Given the description of an element on the screen output the (x, y) to click on. 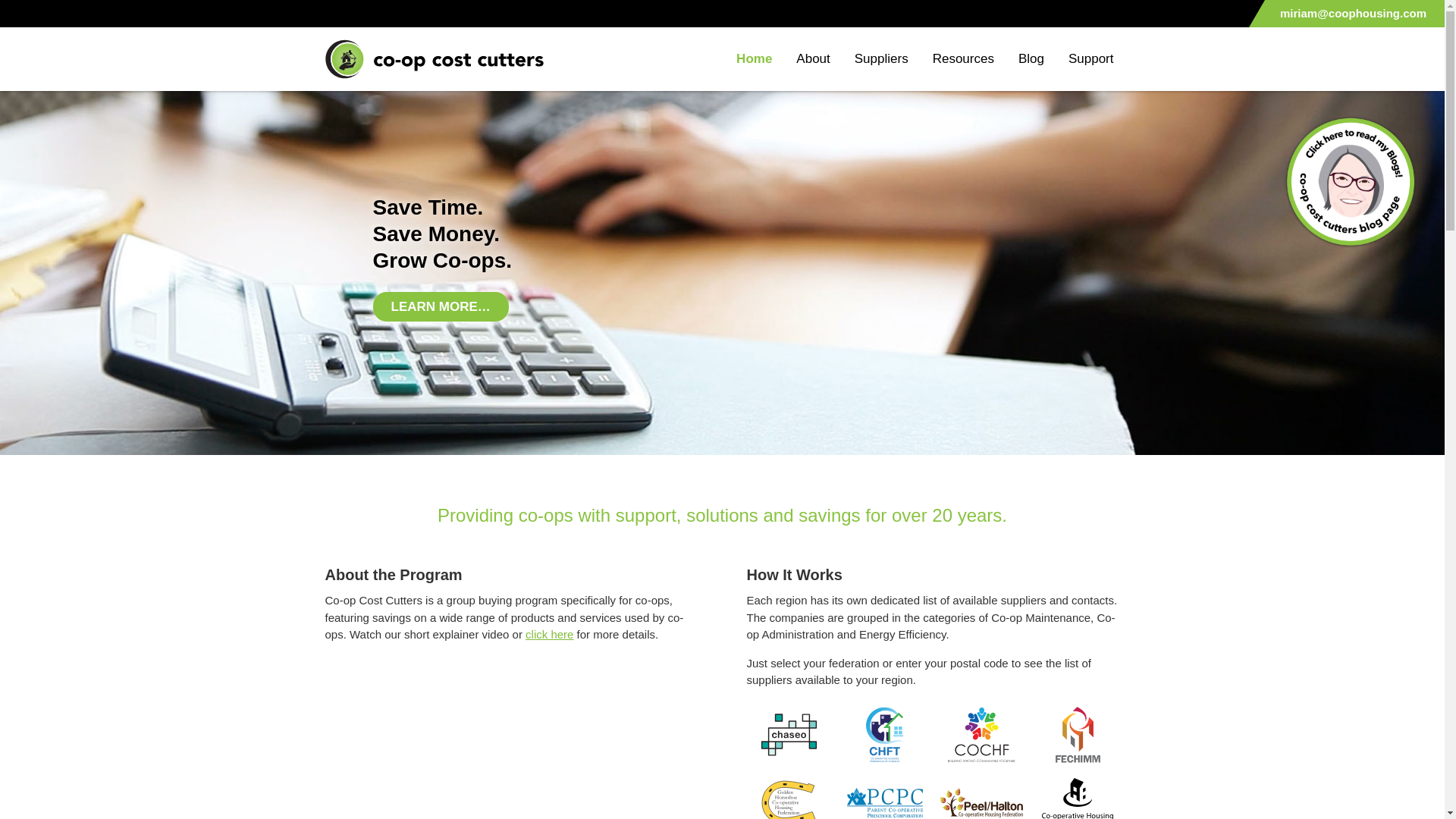
Suppliers (881, 58)
click here (549, 634)
CHF Canada - Unfederated (1077, 796)
Blog (1030, 58)
Home (433, 58)
Support (1090, 58)
Home (753, 58)
Resources (963, 58)
About (812, 58)
YouTube video player (510, 737)
